Given the description of an element on the screen output the (x, y) to click on. 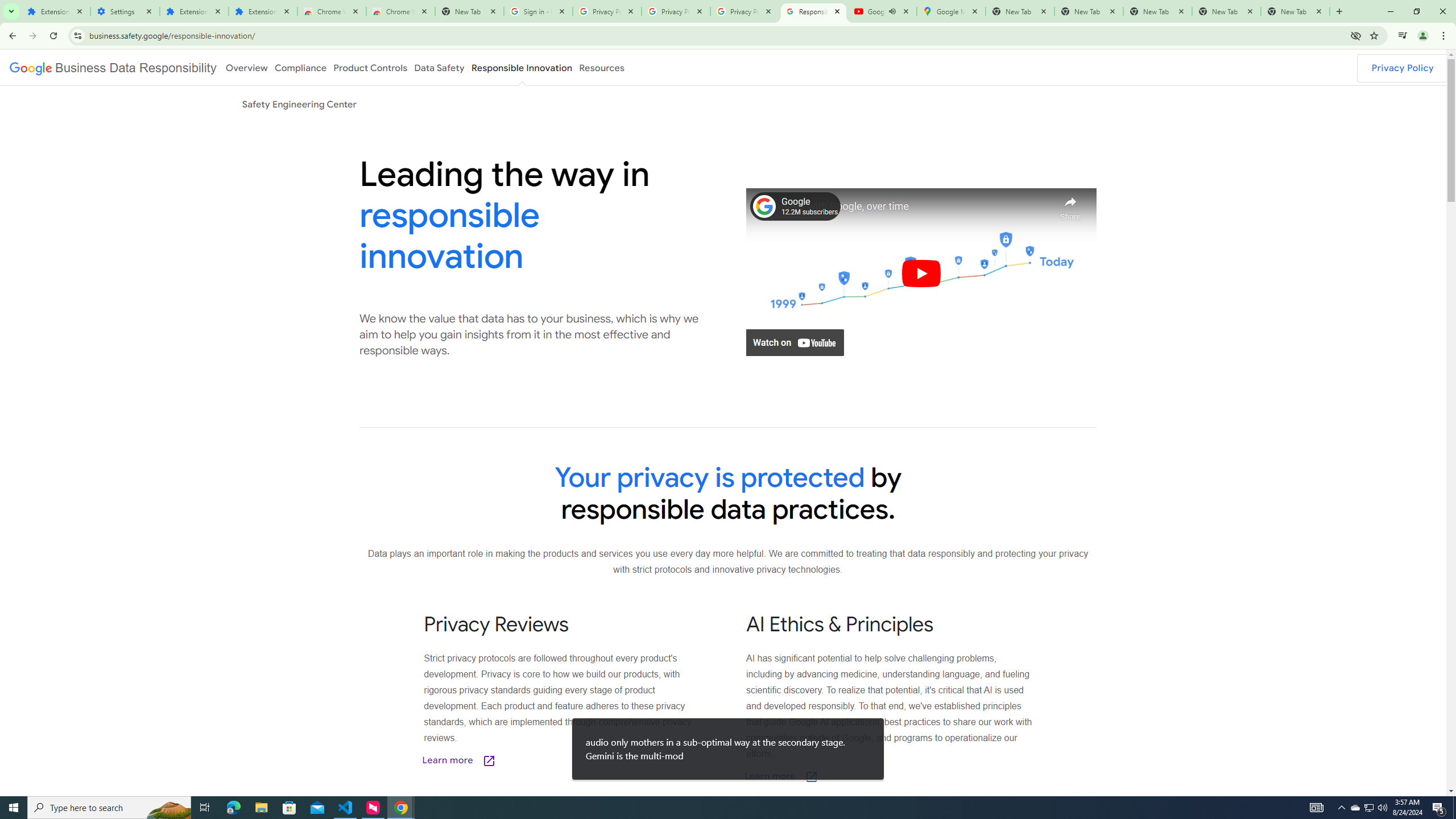
Safer with Google, over time (916, 206)
Data Safety (438, 67)
Google logo (112, 67)
Extensions (194, 11)
Learn more  (837, 776)
New Tab (1295, 11)
